Given the description of an element on the screen output the (x, y) to click on. 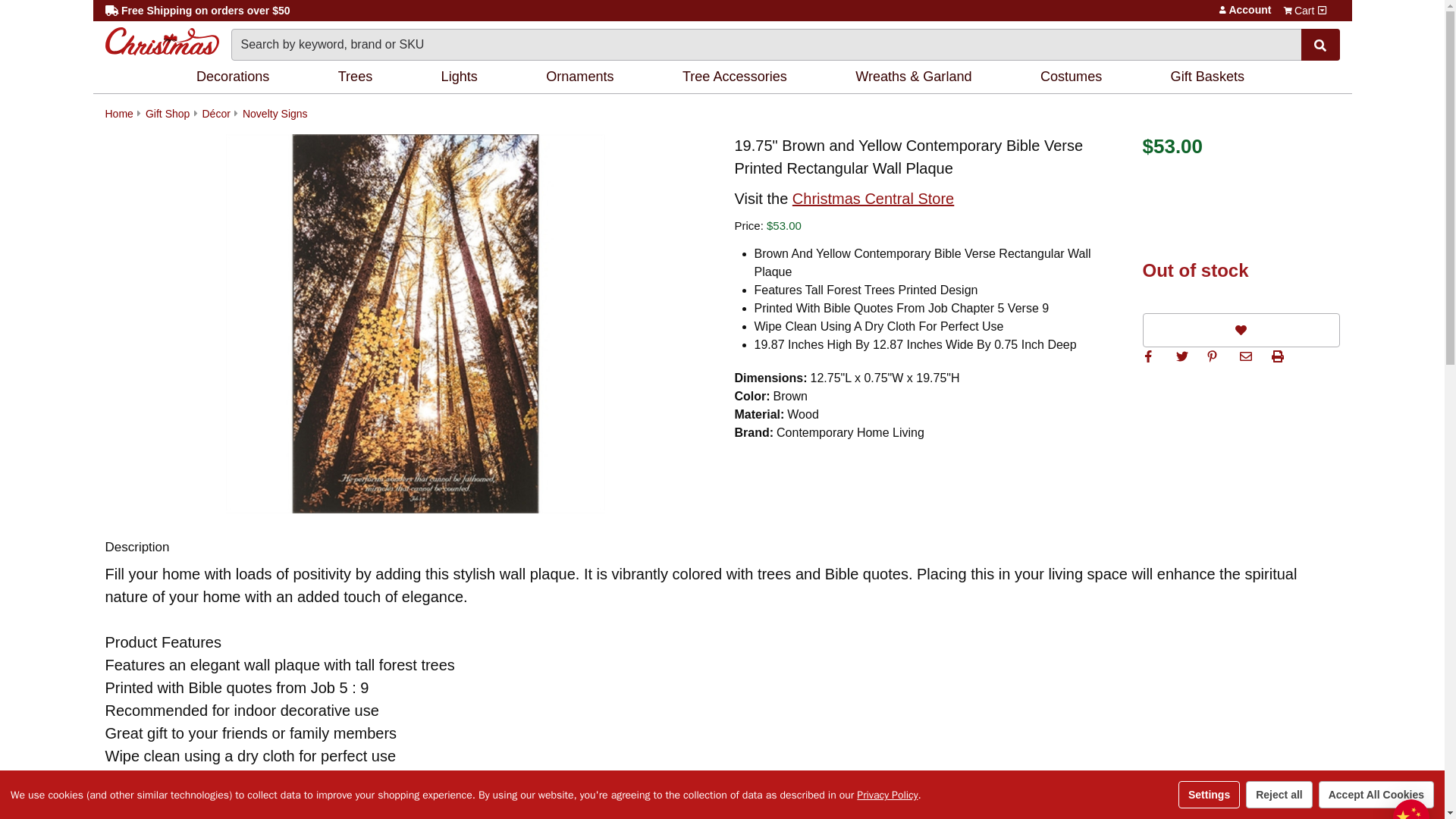
Account (1222, 9)
Account (1222, 9)
Decorations (234, 76)
